Given the description of an element on the screen output the (x, y) to click on. 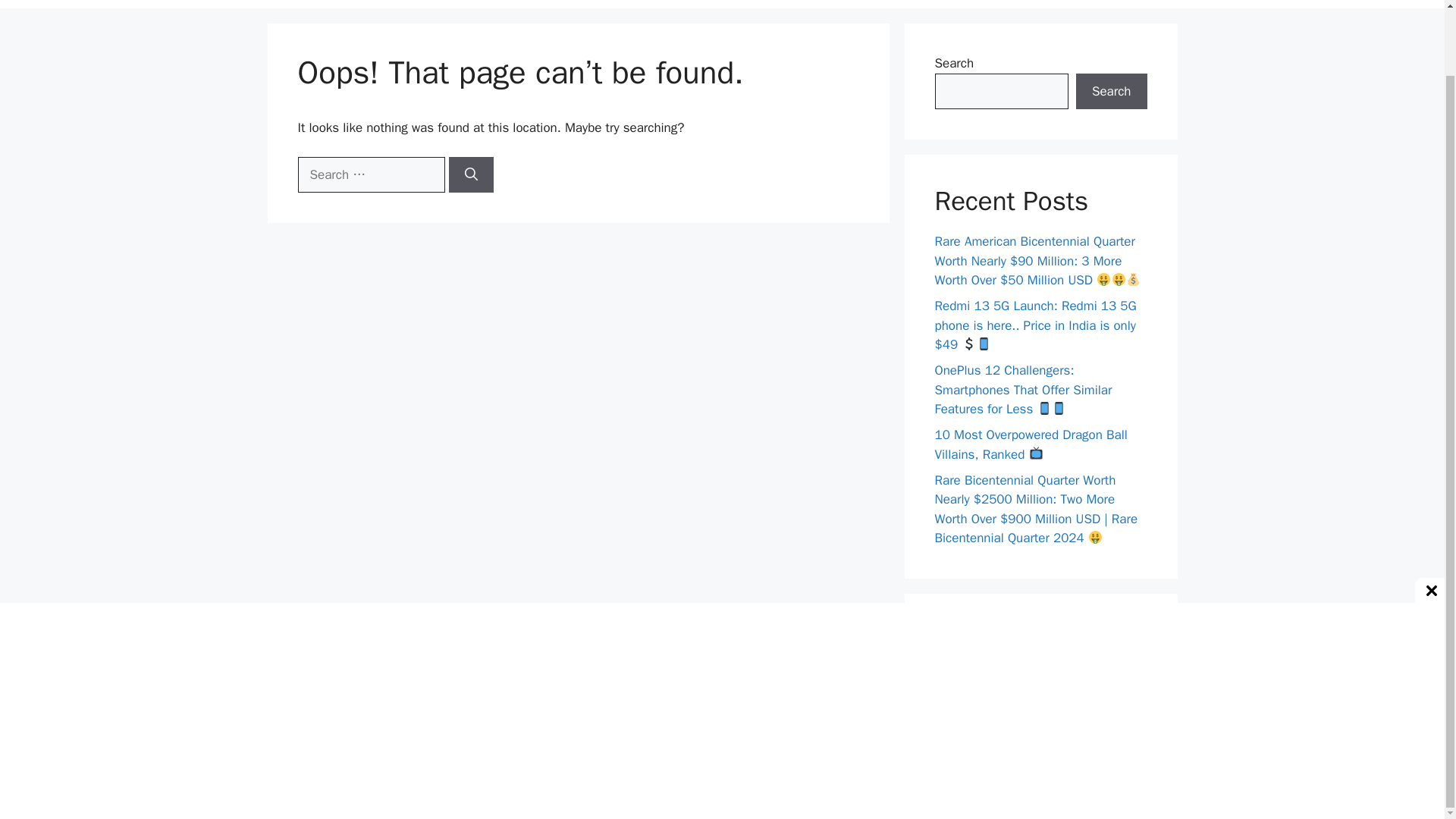
Search for: (370, 175)
GeneratePress (799, 794)
Search (1111, 91)
10 Most Overpowered Dragon Ball Villains, Ranked (1030, 444)
